Given the description of an element on the screen output the (x, y) to click on. 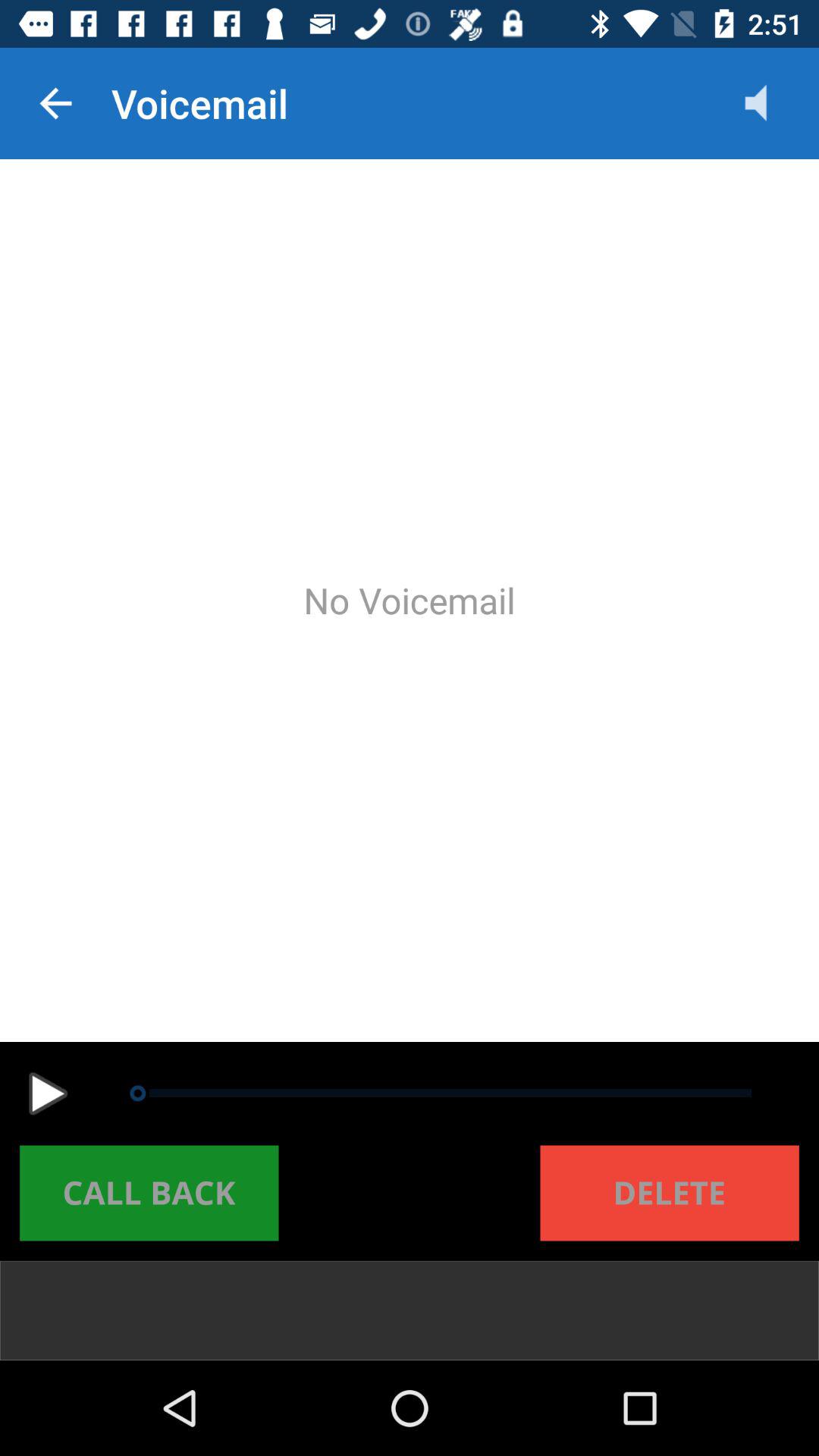
click the call back icon (148, 1193)
